Given the description of an element on the screen output the (x, y) to click on. 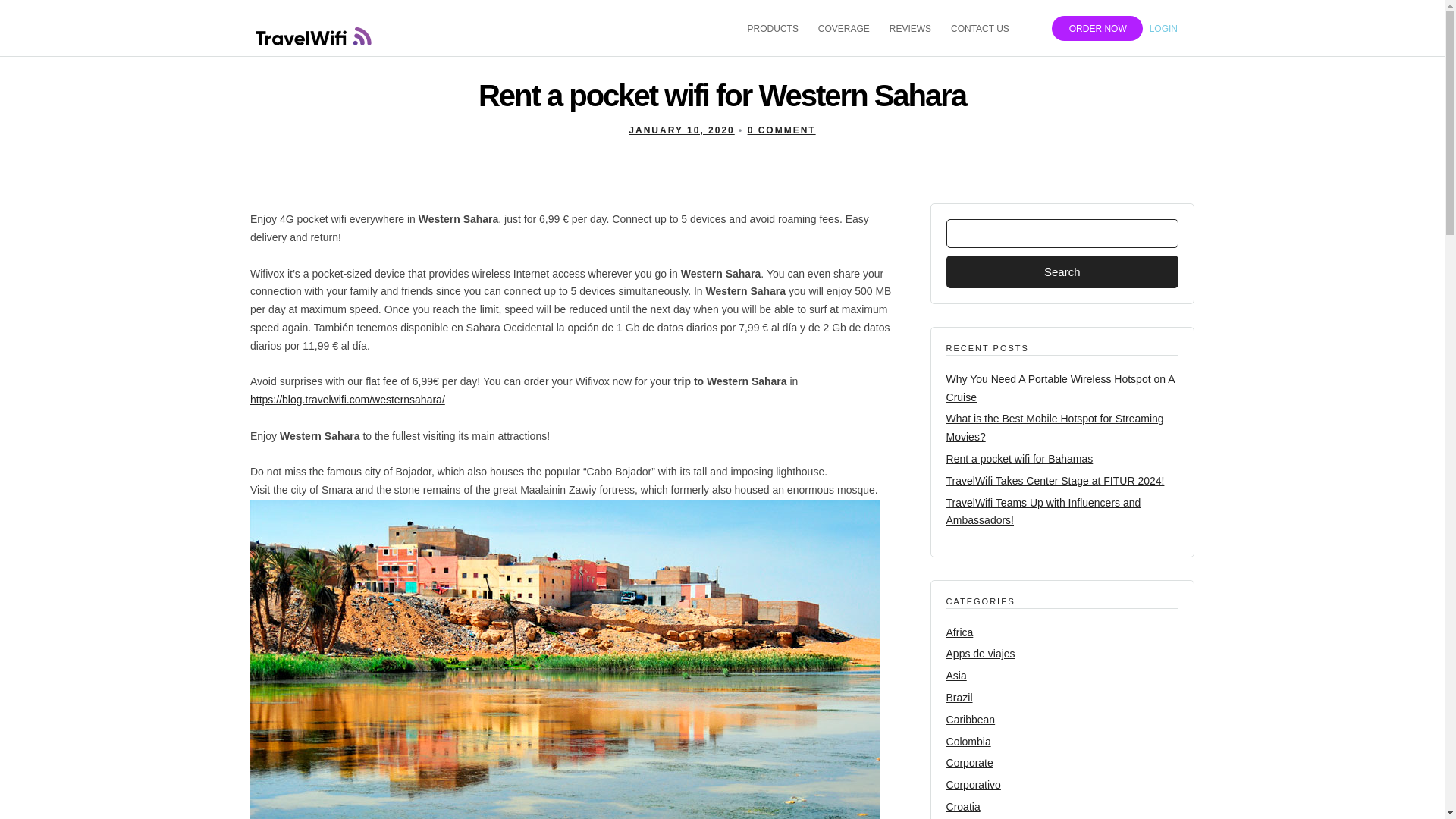
REVIEWS (916, 27)
COVERAGE (850, 27)
ORDER NOW (1096, 27)
LOGIN (1170, 27)
0 COMMENT (781, 130)
PRODUCTS (779, 27)
Rent a pocket wifi for Western Sahara (680, 130)
JANUARY 10, 2020 (680, 130)
Search (1061, 271)
CONTACT US (986, 27)
